Given the description of an element on the screen output the (x, y) to click on. 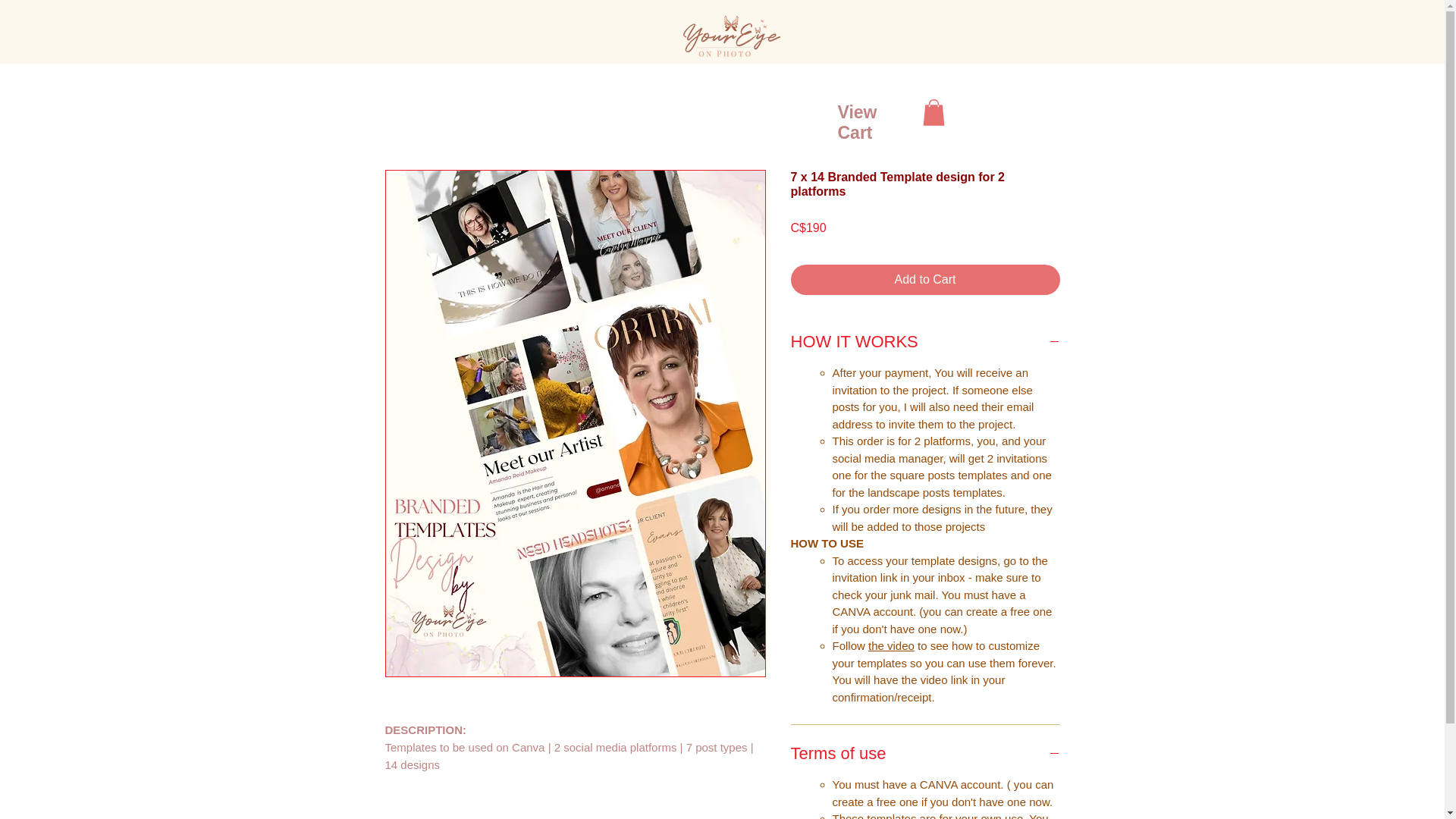
the video (890, 645)
Add to Cart (924, 279)
HOW IT WORKS (924, 341)
Terms of use (924, 752)
